Given the description of an element on the screen output the (x, y) to click on. 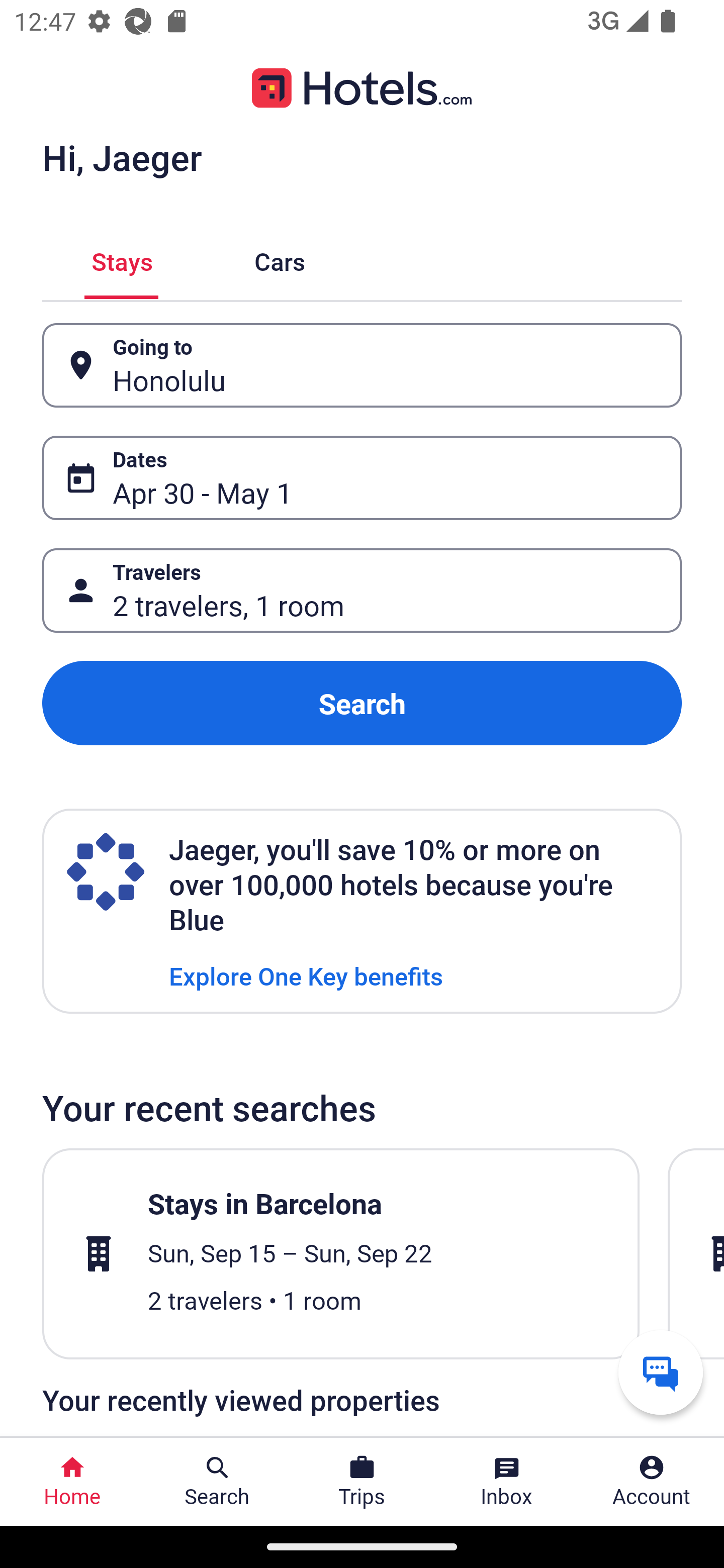
Hi, Jaeger (121, 156)
Cars (279, 259)
Going to Button Honolulu (361, 365)
Dates Button Apr 30 - May 1 (361, 477)
Travelers Button 2 travelers, 1 room (361, 590)
Search (361, 702)
Get help from a virtual agent (660, 1371)
Search Search Button (216, 1481)
Trips Trips Button (361, 1481)
Inbox Inbox Button (506, 1481)
Account Profile. Button (651, 1481)
